Given the description of an element on the screen output the (x, y) to click on. 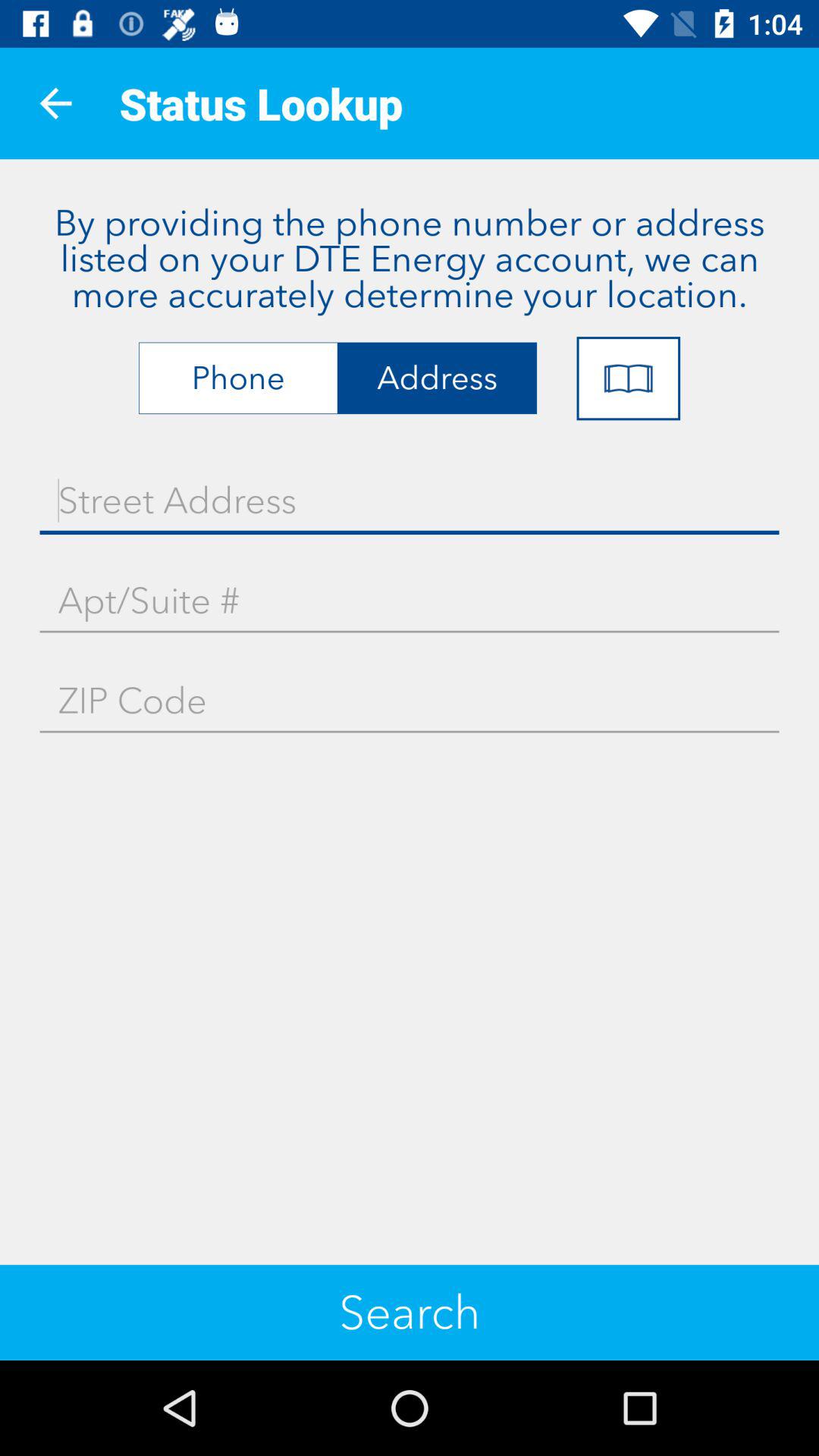
open app to the left of the status lookup (55, 103)
